Given the description of an element on the screen output the (x, y) to click on. 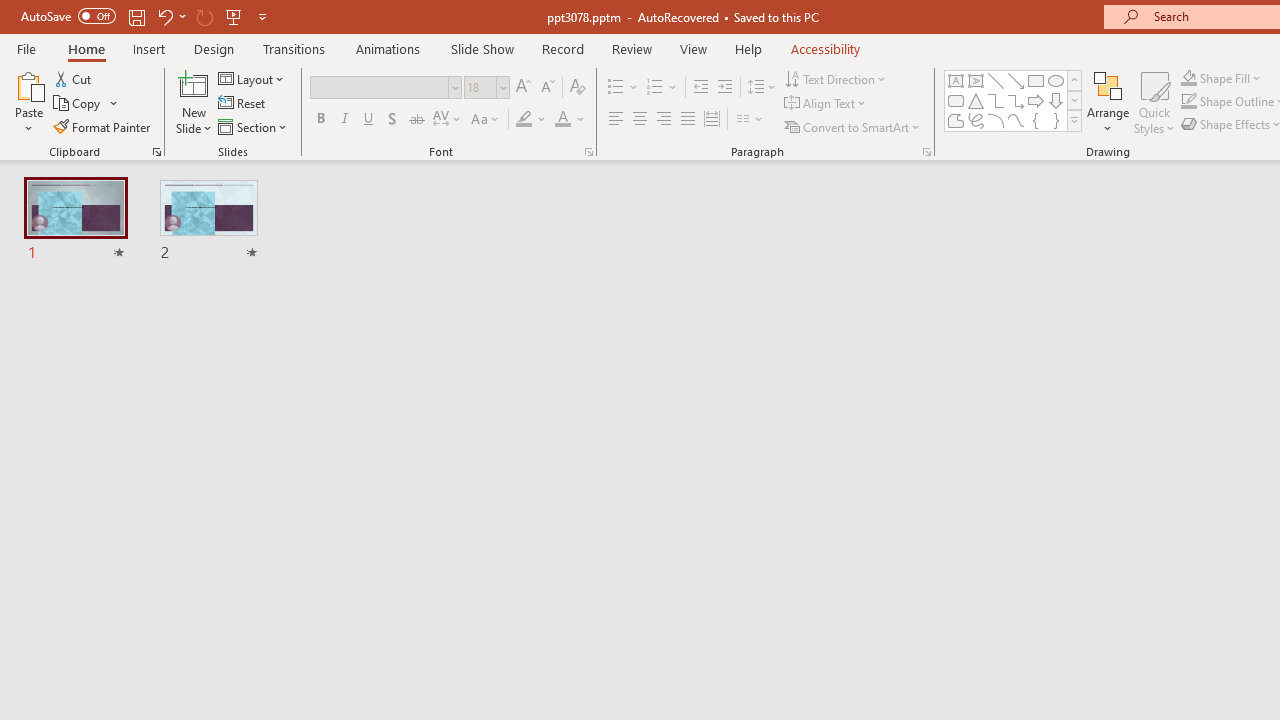
File Tab (26, 48)
Connector: Elbow Arrow (1016, 100)
Office Clipboard... (156, 151)
Connector: Elbow (995, 100)
Bullets (623, 87)
Shape Fill Dark Green, Accent 2 (1188, 78)
Row up (1074, 79)
Bold (320, 119)
Increase Indent (725, 87)
Right Brace (1055, 120)
Clear Formatting (577, 87)
Text Highlight Color Yellow (524, 119)
Strikethrough (416, 119)
